Given the description of an element on the screen output the (x, y) to click on. 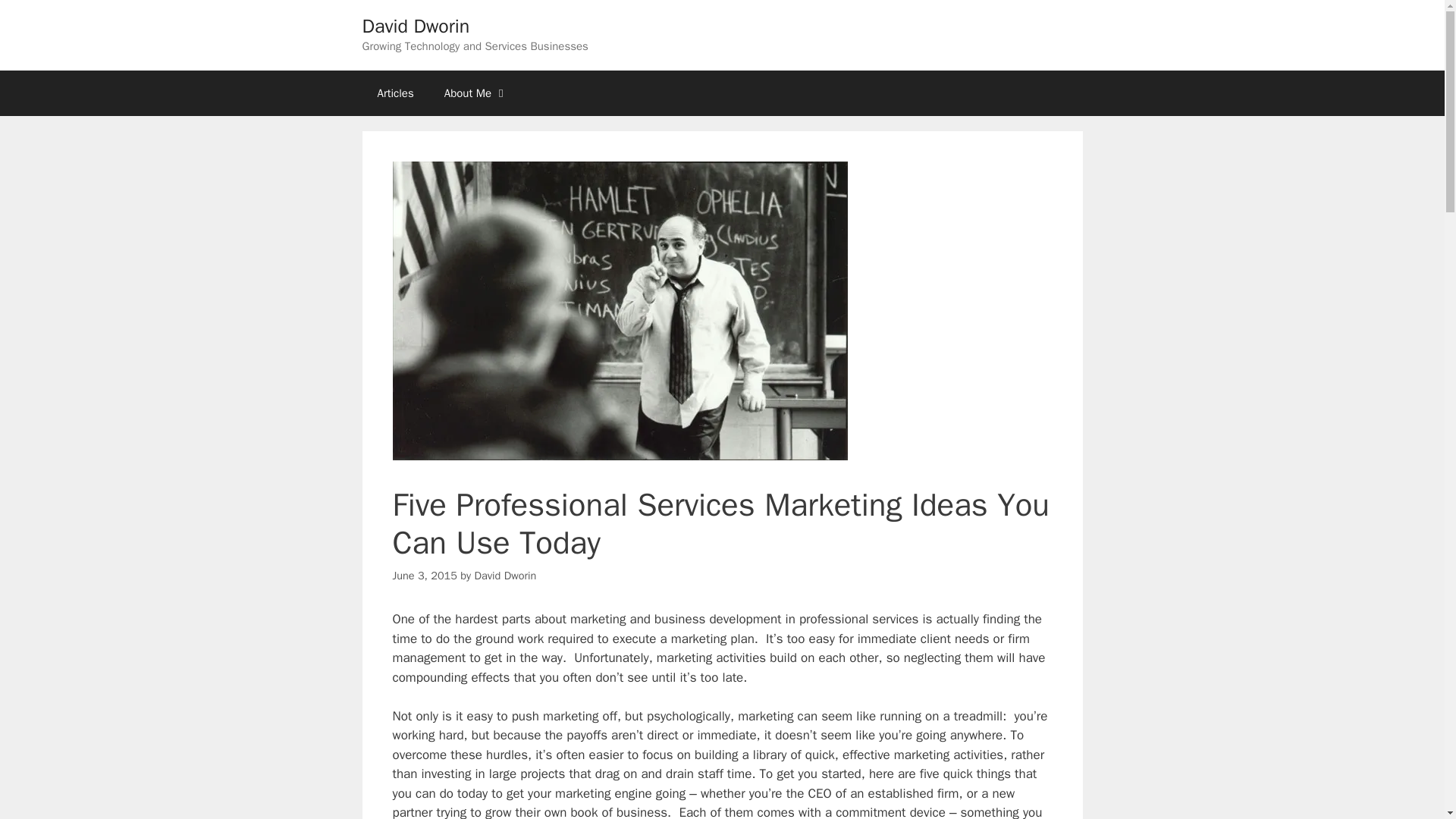
About Me (475, 92)
David Dworin (416, 25)
David Dworin (504, 575)
View all posts by David Dworin (504, 575)
Articles (395, 92)
